Given the description of an element on the screen output the (x, y) to click on. 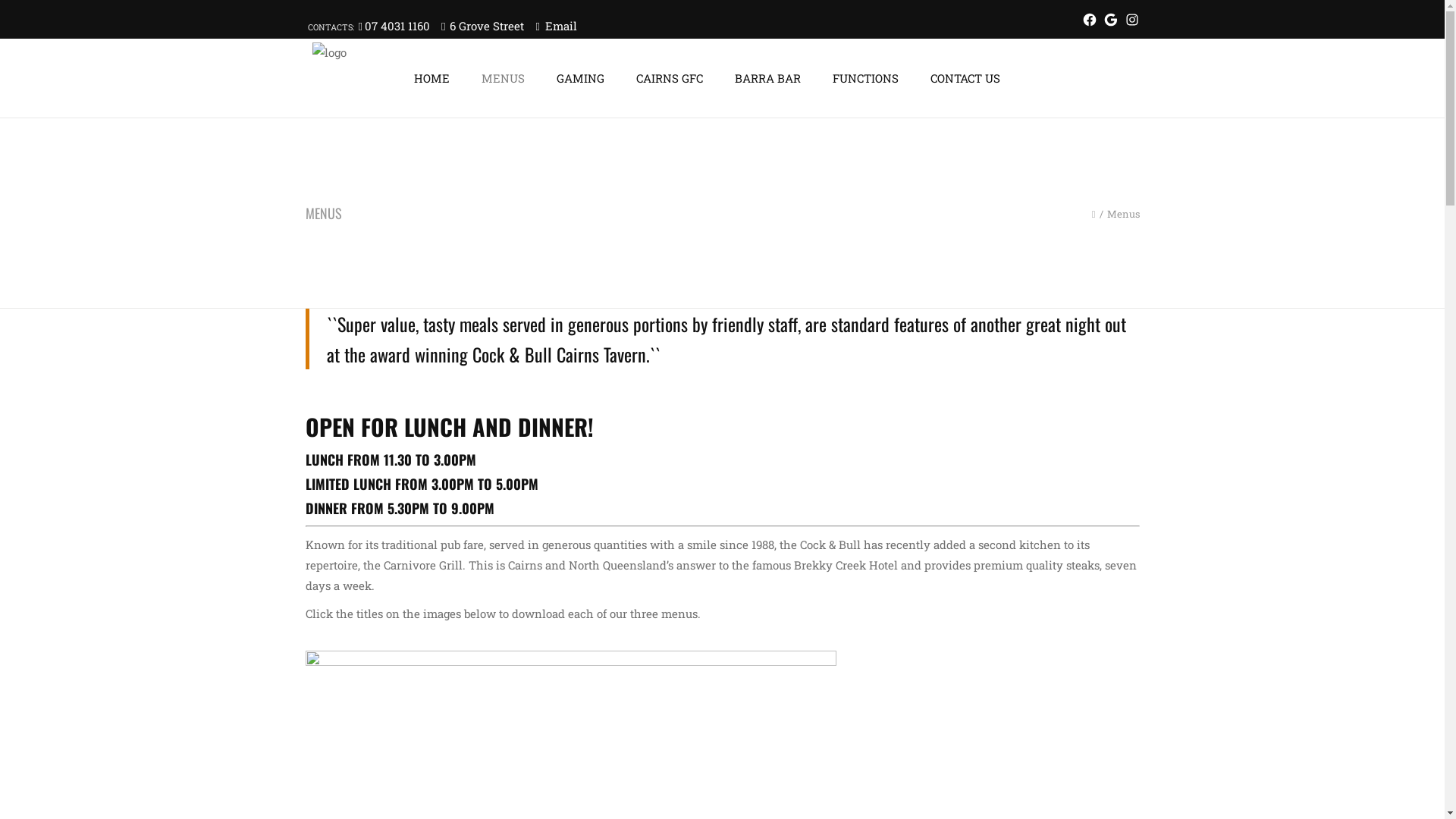
CAIRNS GFC Element type: text (672, 77)
6 Grove Street Element type: text (486, 25)
Facebook Element type: text (1088, 19)
FUNCTIONS Element type: text (867, 77)
GAMING Element type: text (582, 77)
CONTACT US Element type: text (958, 77)
Instagram Element type: text (1131, 19)
HOME Element type: text (432, 77)
Google Element type: text (1109, 19)
07 4031 1160 Element type: text (396, 25)
BARRA BAR Element type: text (770, 77)
Email Element type: text (561, 25)
MENUS Element type: text (505, 77)
